Given the description of an element on the screen output the (x, y) to click on. 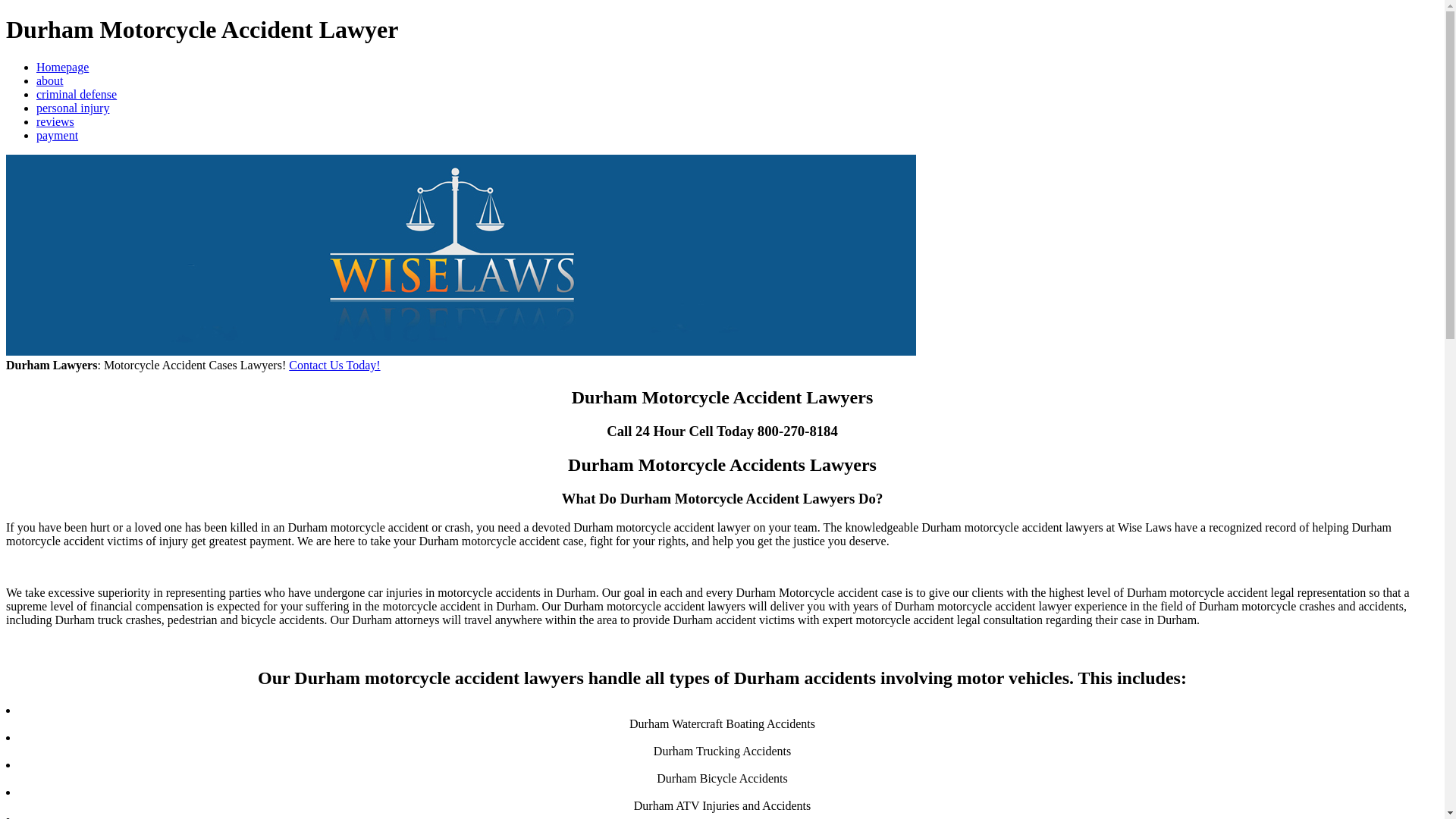
reviews (55, 121)
criminal defense (76, 93)
Homepage (62, 66)
payment (57, 134)
Contact Us Today! (334, 364)
about (50, 80)
personal injury (72, 107)
